Given the description of an element on the screen output the (x, y) to click on. 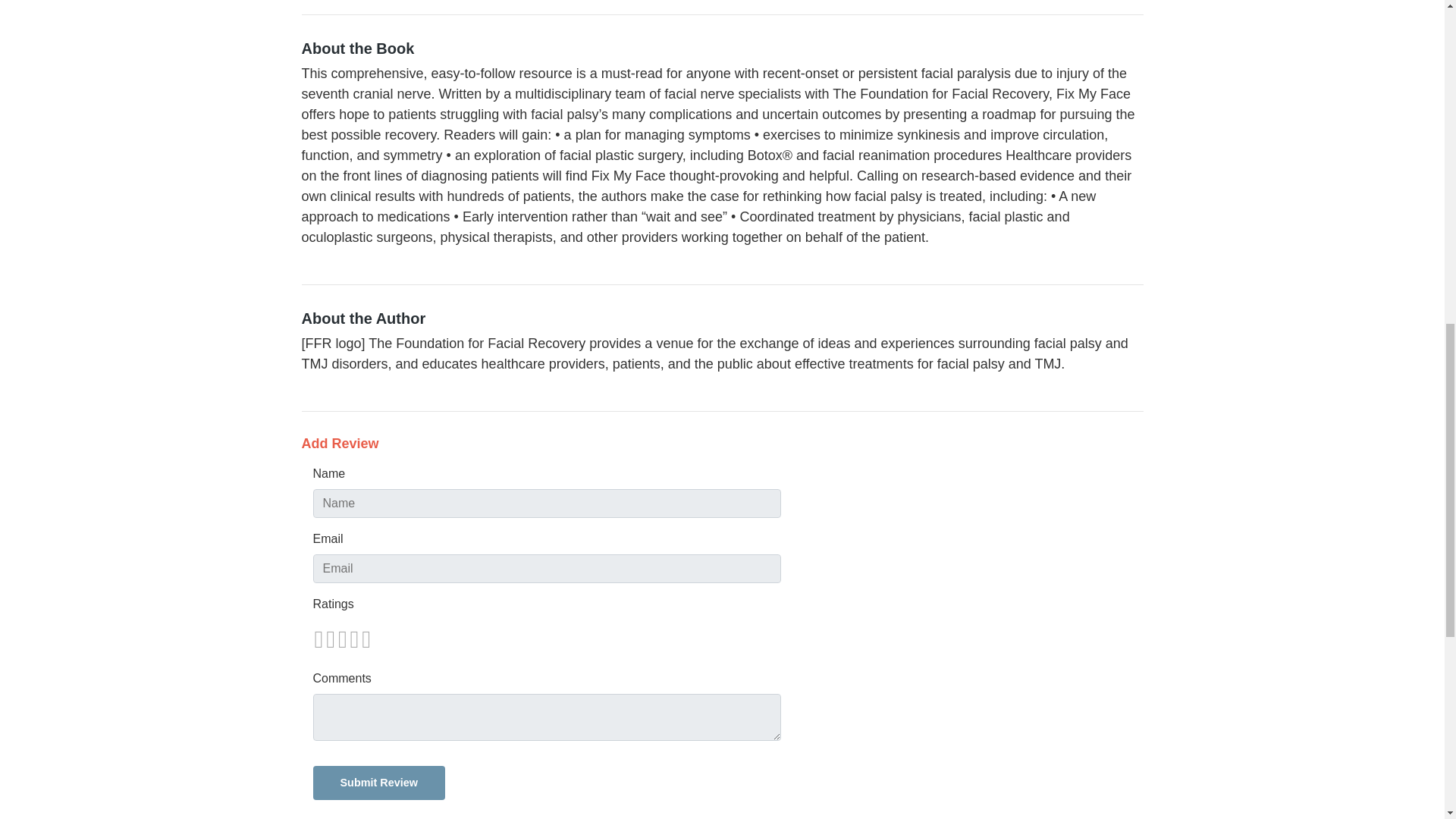
Submit Review (378, 782)
Submit Review (378, 782)
Not Rated (342, 638)
